Given the description of an element on the screen output the (x, y) to click on. 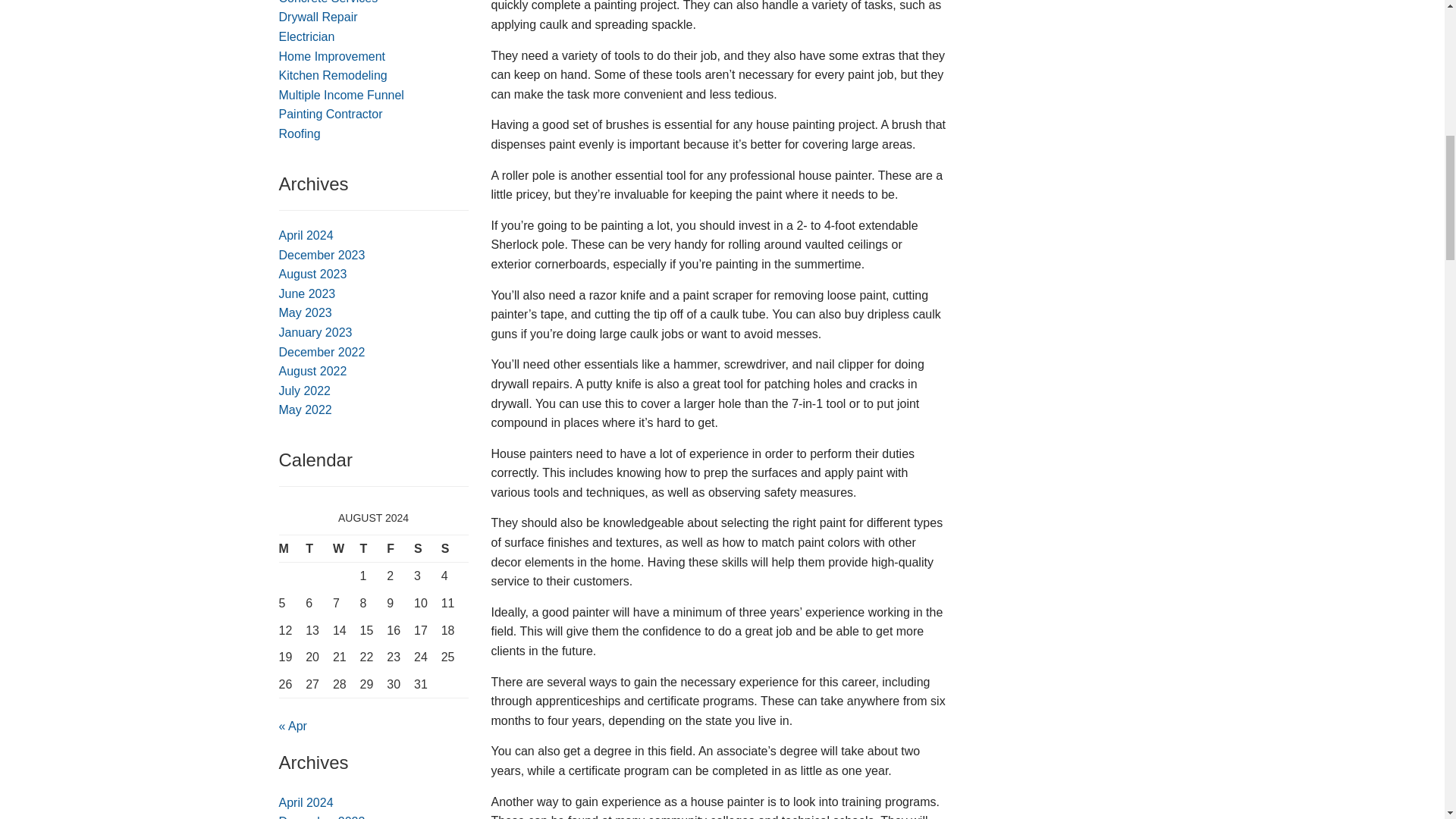
Saturday (427, 548)
Monday (292, 548)
December 2022 (322, 351)
Wednesday (346, 548)
Drywall Repair (318, 16)
Thursday (373, 548)
Sunday (454, 548)
January 2023 (315, 332)
Kitchen Remodeling (333, 74)
Electrician (306, 36)
August 2022 (313, 370)
August 2023 (313, 273)
April 2024 (306, 235)
Home Improvement (332, 56)
December 2023 (322, 254)
